Given the description of an element on the screen output the (x, y) to click on. 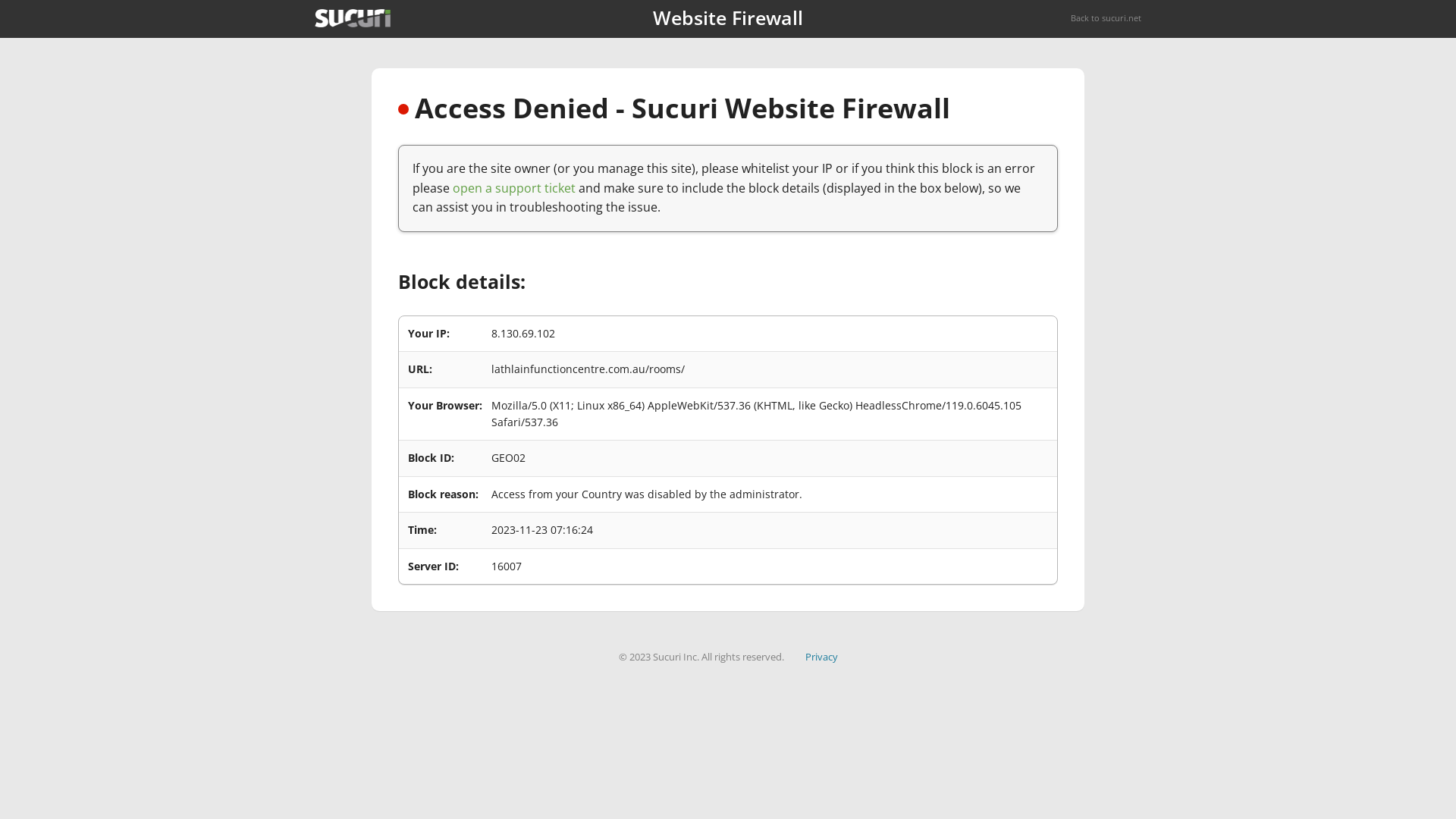
open a support ticket Element type: text (513, 187)
Back to sucuri.net Element type: text (1105, 18)
Privacy Element type: text (821, 656)
